Given the description of an element on the screen output the (x, y) to click on. 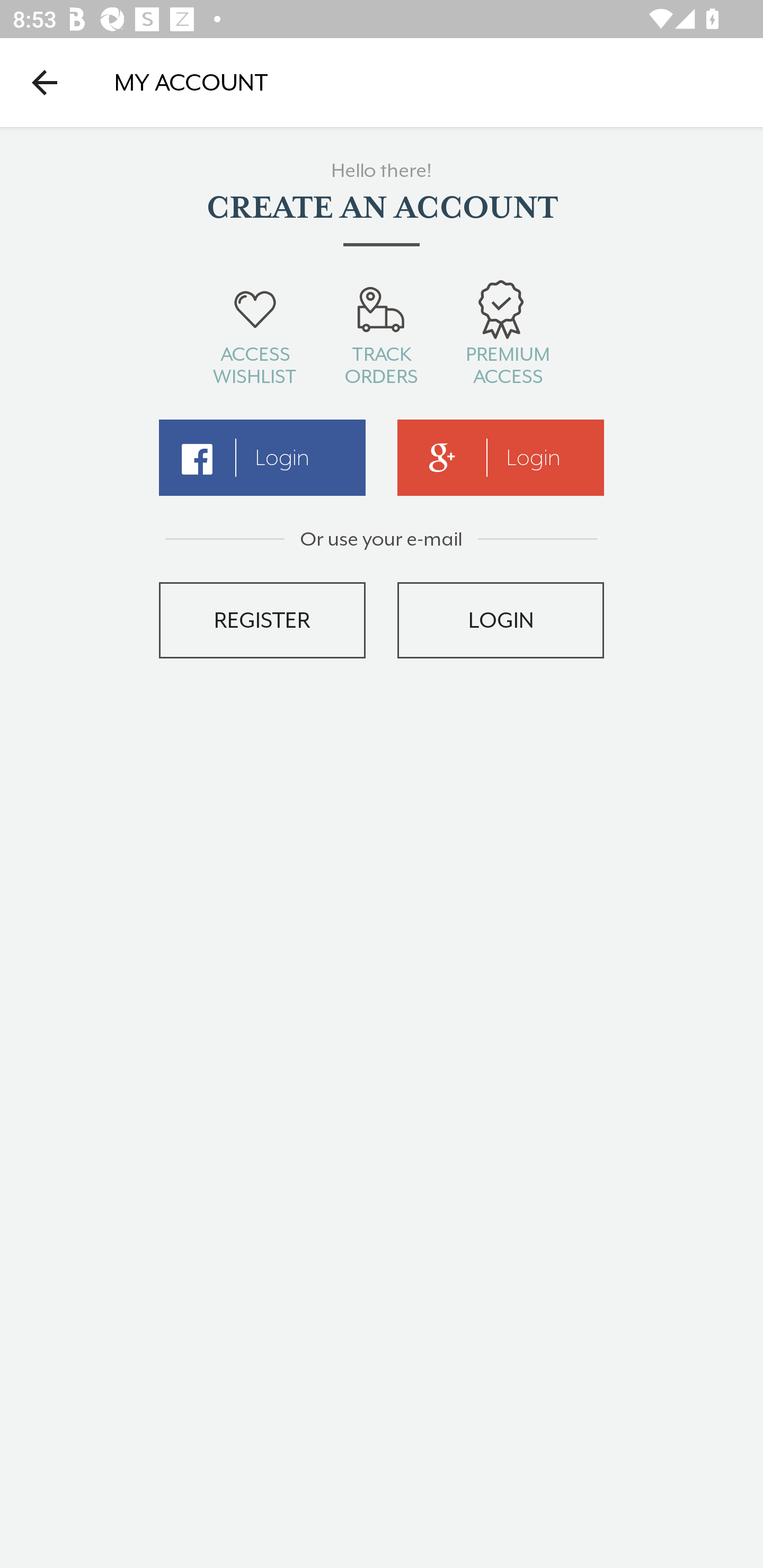
Navigate up (44, 82)
 Login (261, 457)
Login (500, 457)
REGISTER (261, 619)
LOGIN (500, 619)
